Given the description of an element on the screen output the (x, y) to click on. 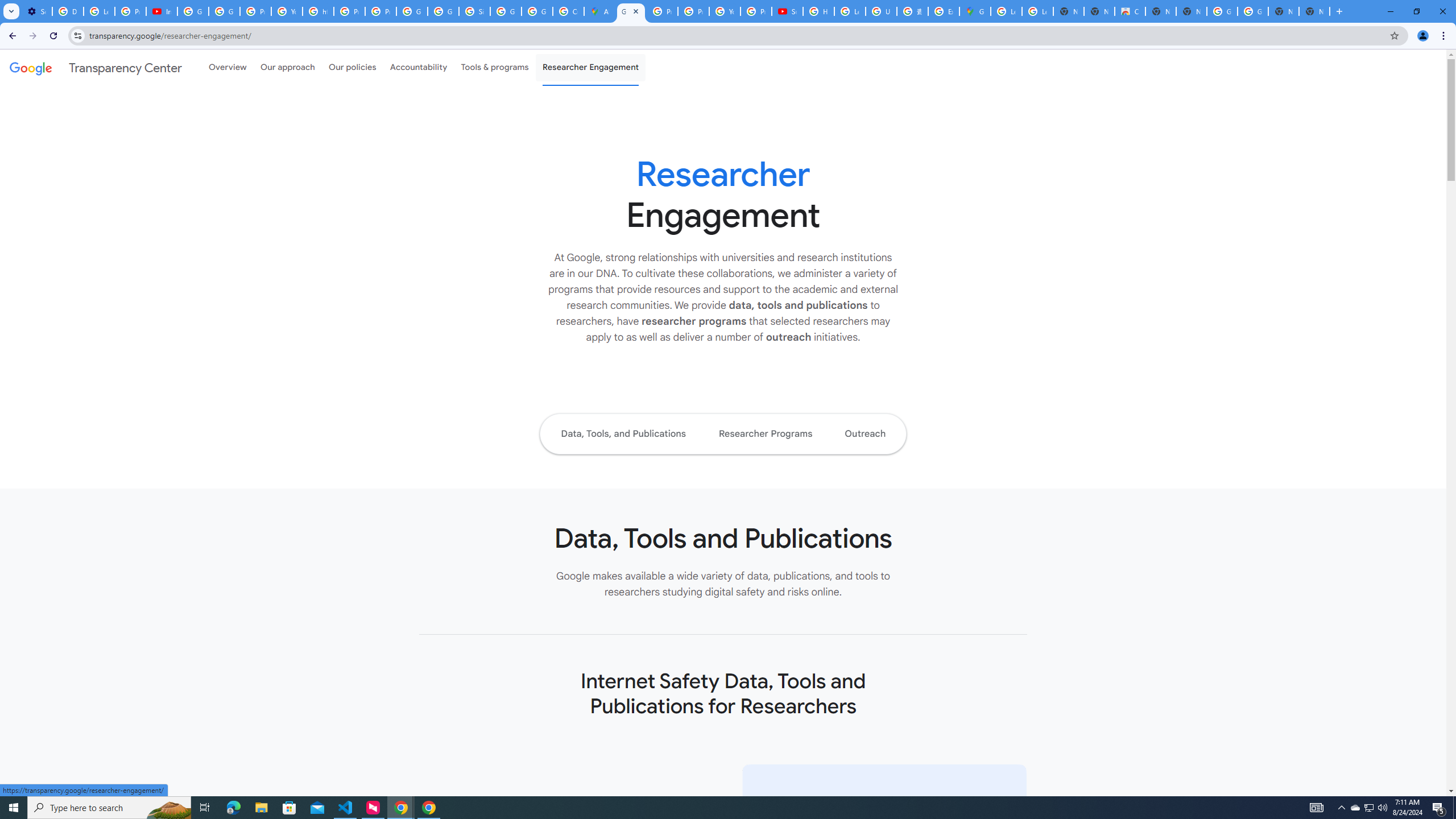
Sign in - Google Accounts (474, 11)
Google Maps (974, 11)
Chrome Web Store (1129, 11)
Google Account Help (192, 11)
Outreach (865, 433)
